Given the description of an element on the screen output the (x, y) to click on. 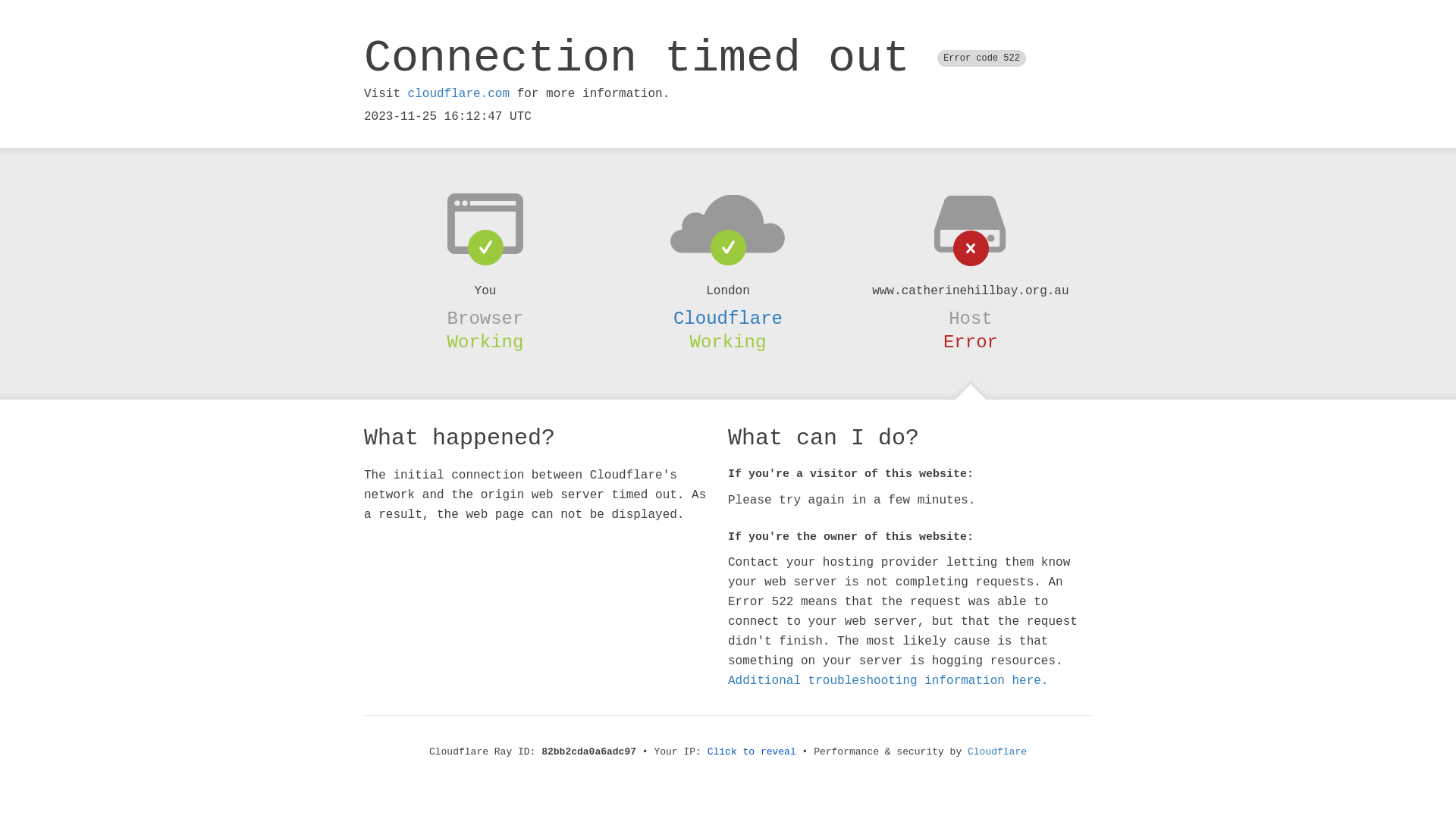
Cloudflare Element type: text (727, 318)
Additional troubleshooting information here. Element type: text (888, 680)
Click to reveal Element type: text (751, 751)
Cloudflare Element type: text (996, 751)
cloudflare.com Element type: text (458, 93)
